Given the description of an element on the screen output the (x, y) to click on. 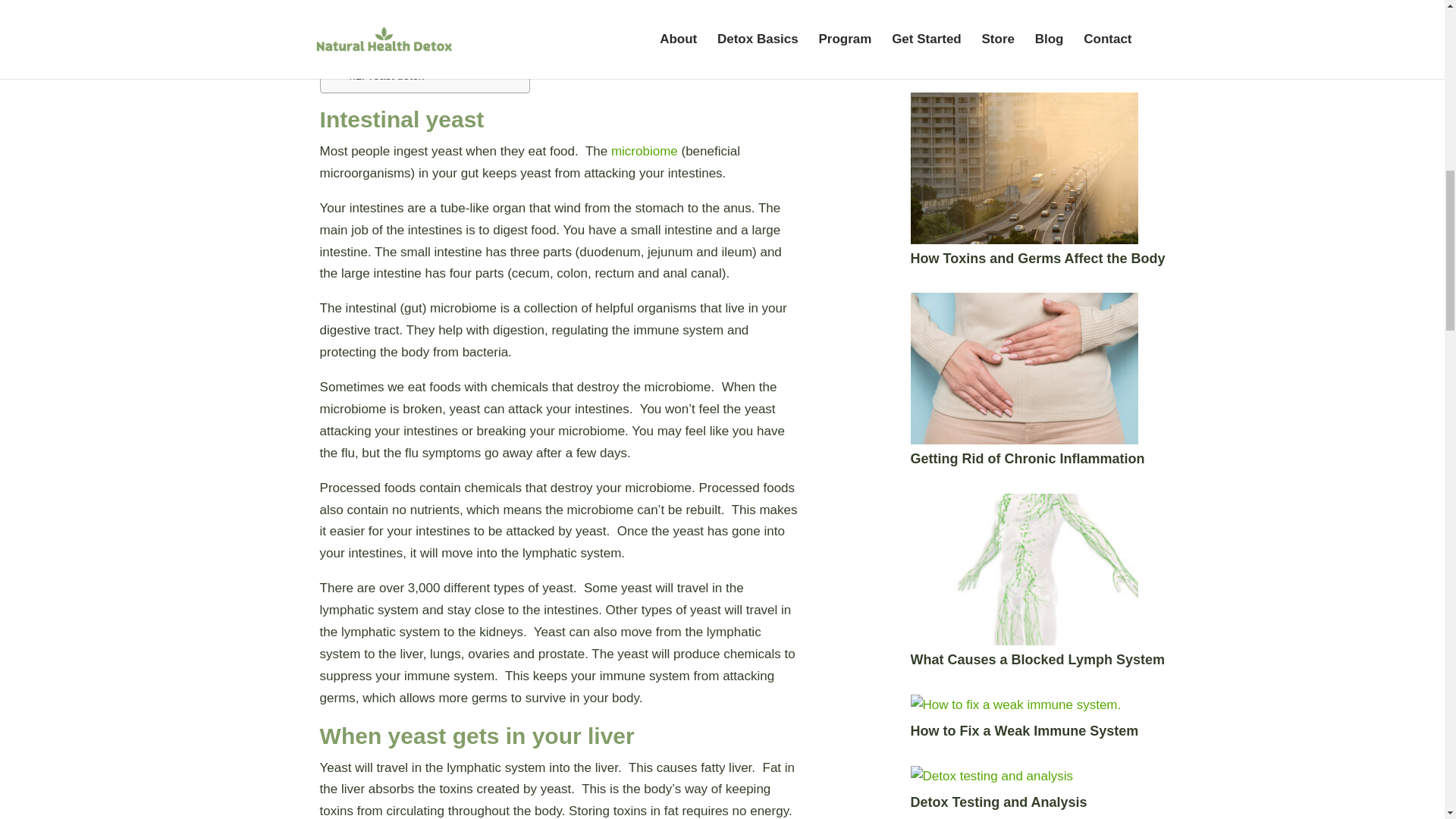
Yeast detox (384, 76)
Getting Rid of Chronic Inflammation (1027, 458)
 Yeast and your immune system (421, 37)
Submit (940, 8)
Detox Testing and Analysis (999, 801)
Treating yeast in the liver (403, 57)
What Causes a Blocked Lymph System (1037, 659)
Intestinal yeast (375, 4)
Treating yeast in the liver (403, 57)
How to Fix a Weak Immune System (1024, 730)
